Given the description of an element on the screen output the (x, y) to click on. 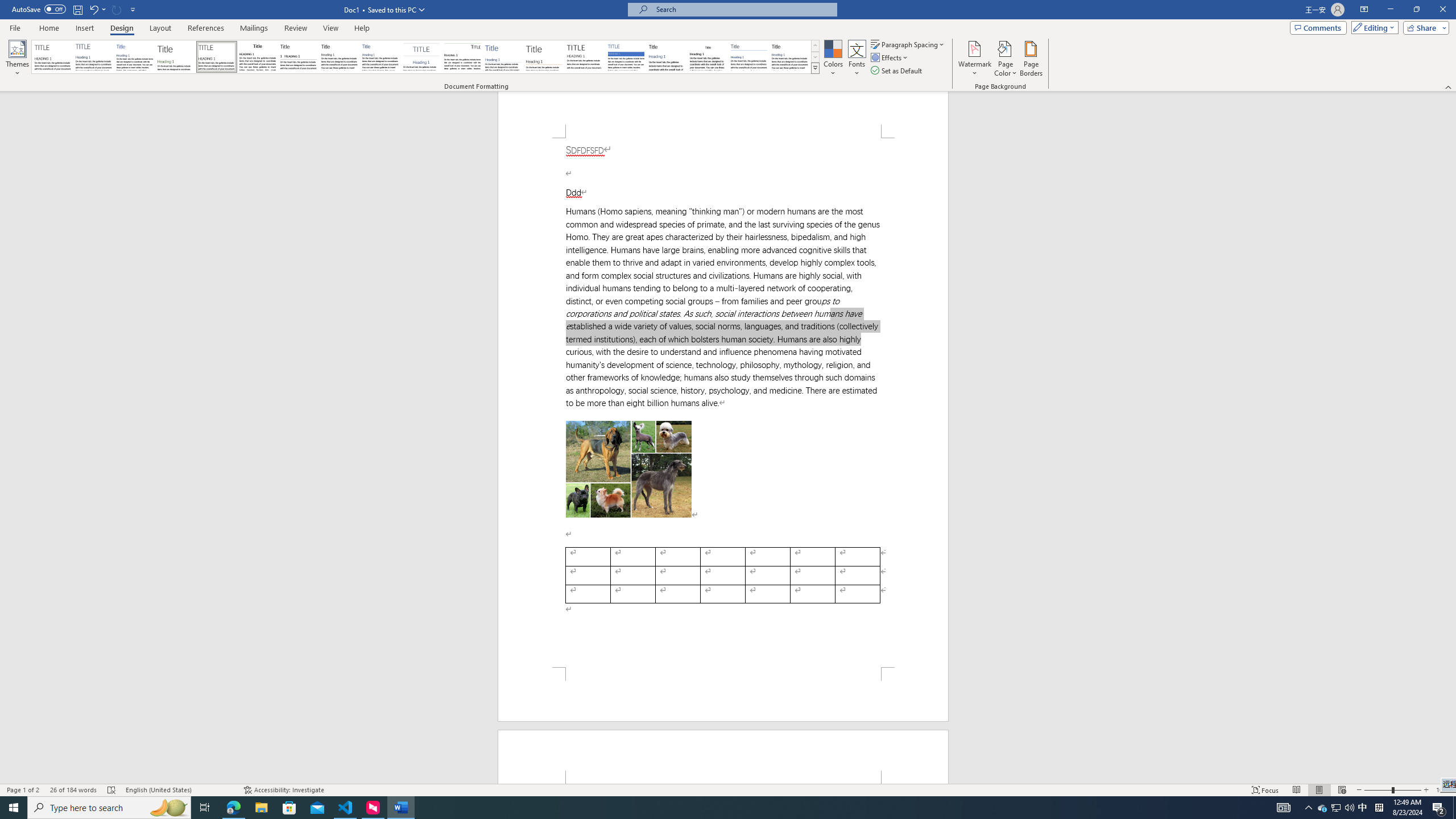
Word 2013 (790, 56)
Undo Apply Quick Style Set (92, 9)
Word 2010 (749, 56)
Paragraph Spacing (908, 44)
Accessibility Checker Accessibility: Investigate (283, 790)
Microsoft search (742, 9)
Colors (832, 58)
AutomationID: QuickStylesSets (425, 56)
Page Color (1005, 58)
